Given the description of an element on the screen output the (x, y) to click on. 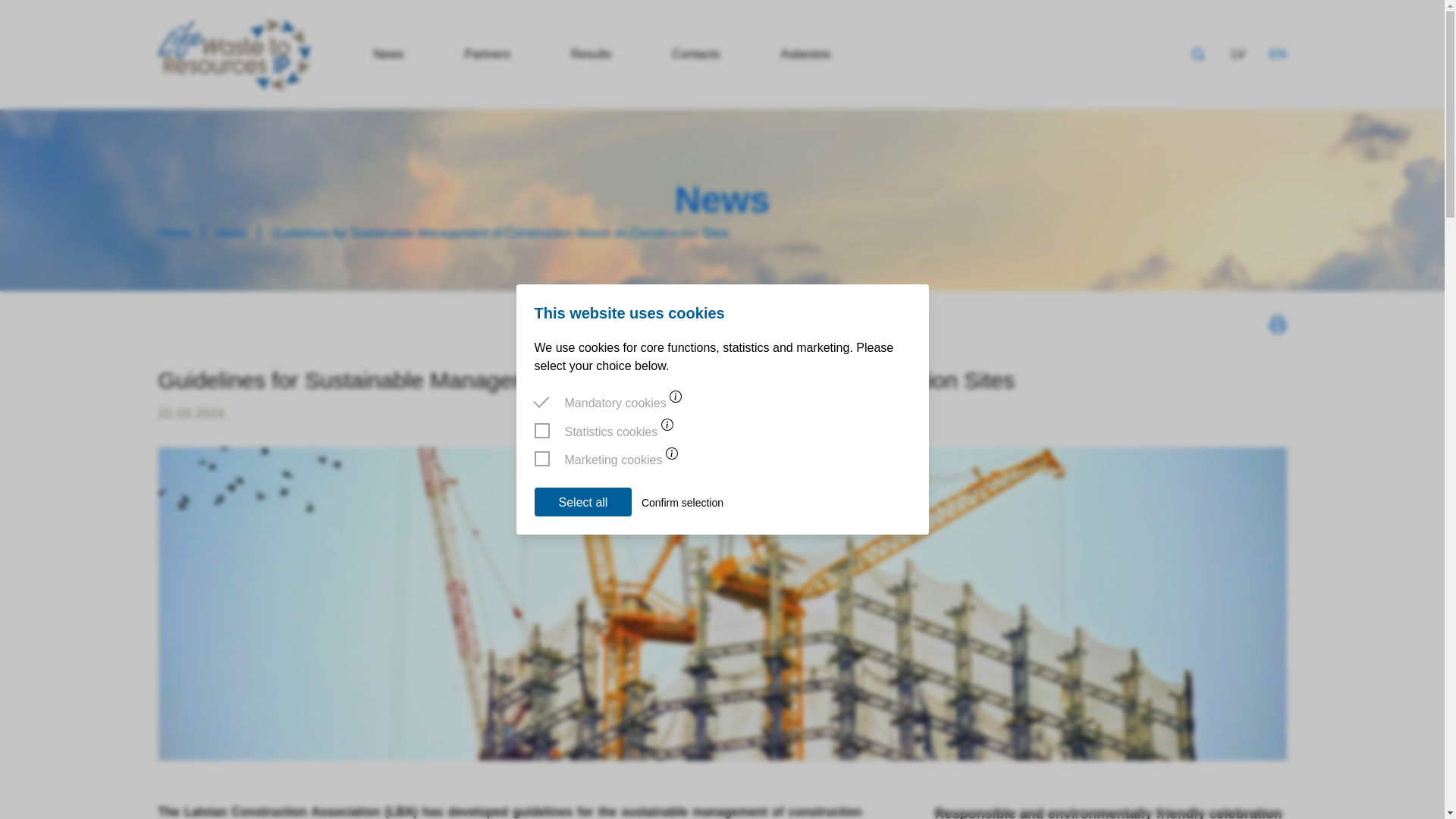
Results (591, 53)
Partners (487, 53)
en (1277, 54)
Partners (487, 53)
Results (591, 53)
News (388, 53)
Select all (582, 501)
EN (1277, 54)
Asbestos (805, 53)
Home (173, 233)
